Given the description of an element on the screen output the (x, y) to click on. 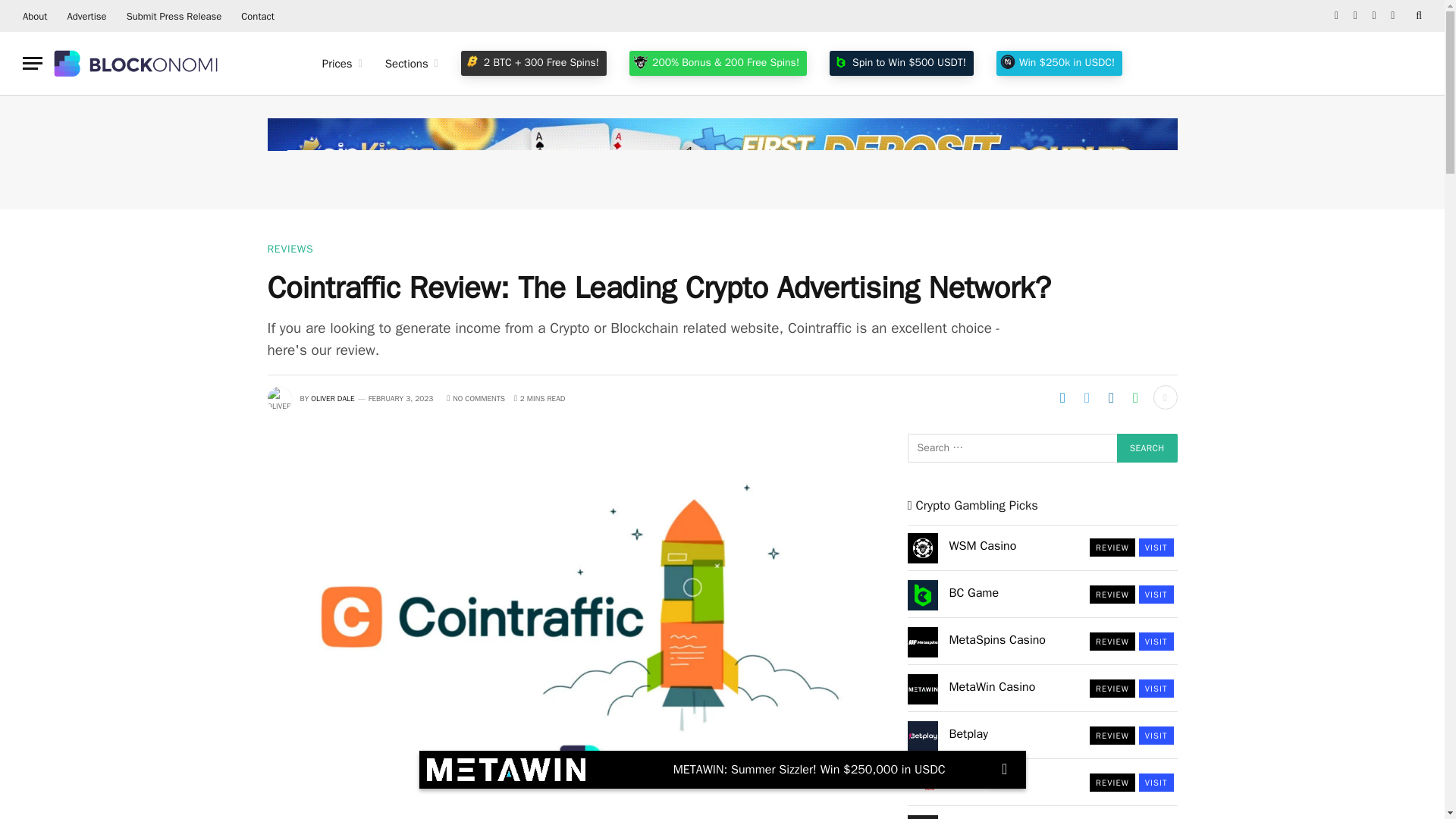
Search (1146, 448)
Share on LinkedIn (1110, 396)
Advertise (86, 15)
Contact (257, 15)
Blockonomi (137, 62)
Search (1146, 448)
Share on Telegram (1062, 396)
Prices (342, 63)
Posts by Oliver Dale (332, 398)
